Given the description of an element on the screen output the (x, y) to click on. 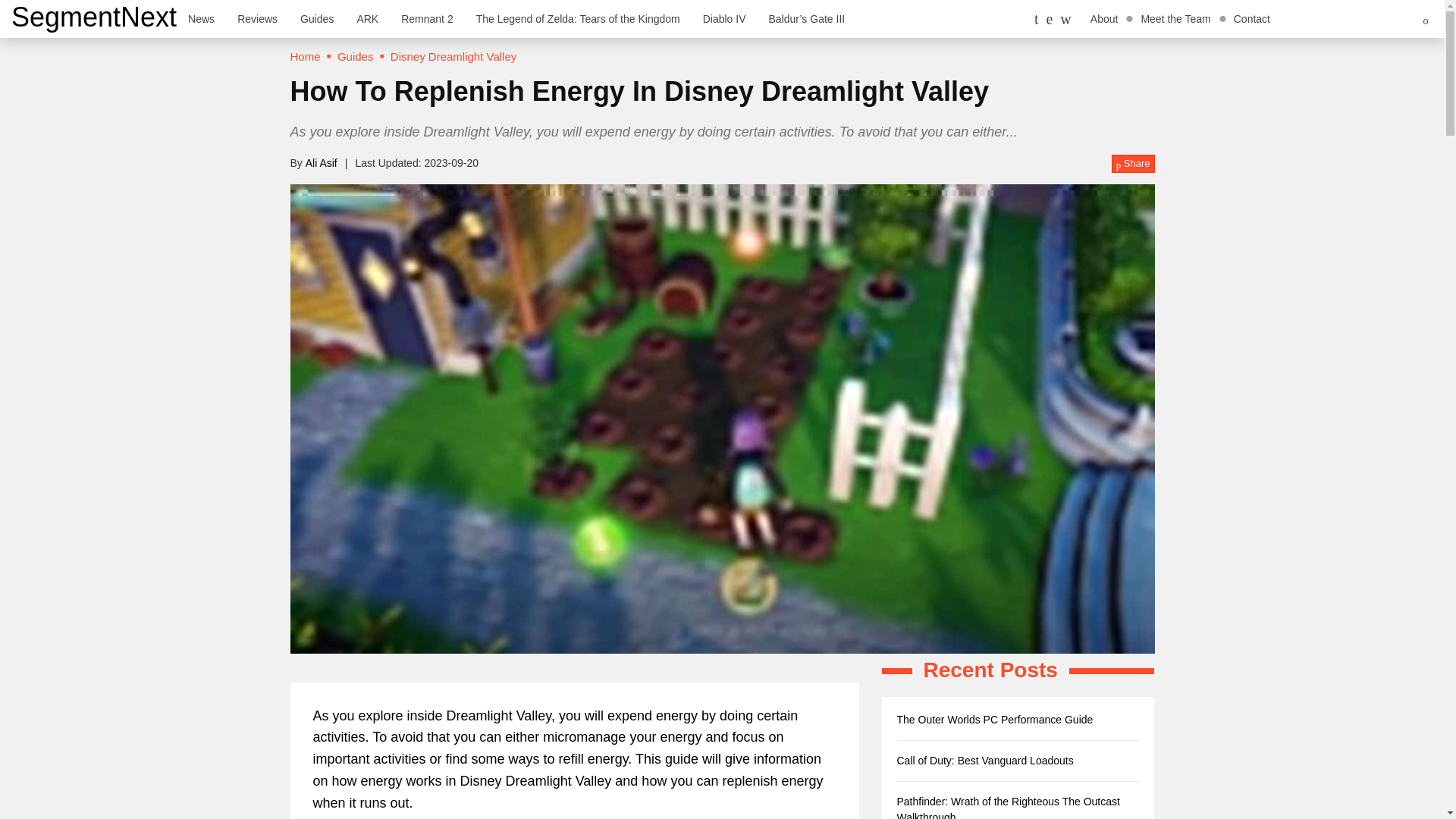
Disney Dreamlight Valley (453, 56)
Reviews (256, 18)
Diablo IV (724, 18)
Guides (316, 18)
ARK (367, 18)
Share (1133, 163)
News (200, 18)
Meet the Team (1175, 18)
Remnant 2 (427, 18)
News (200, 18)
